Given the description of an element on the screen output the (x, y) to click on. 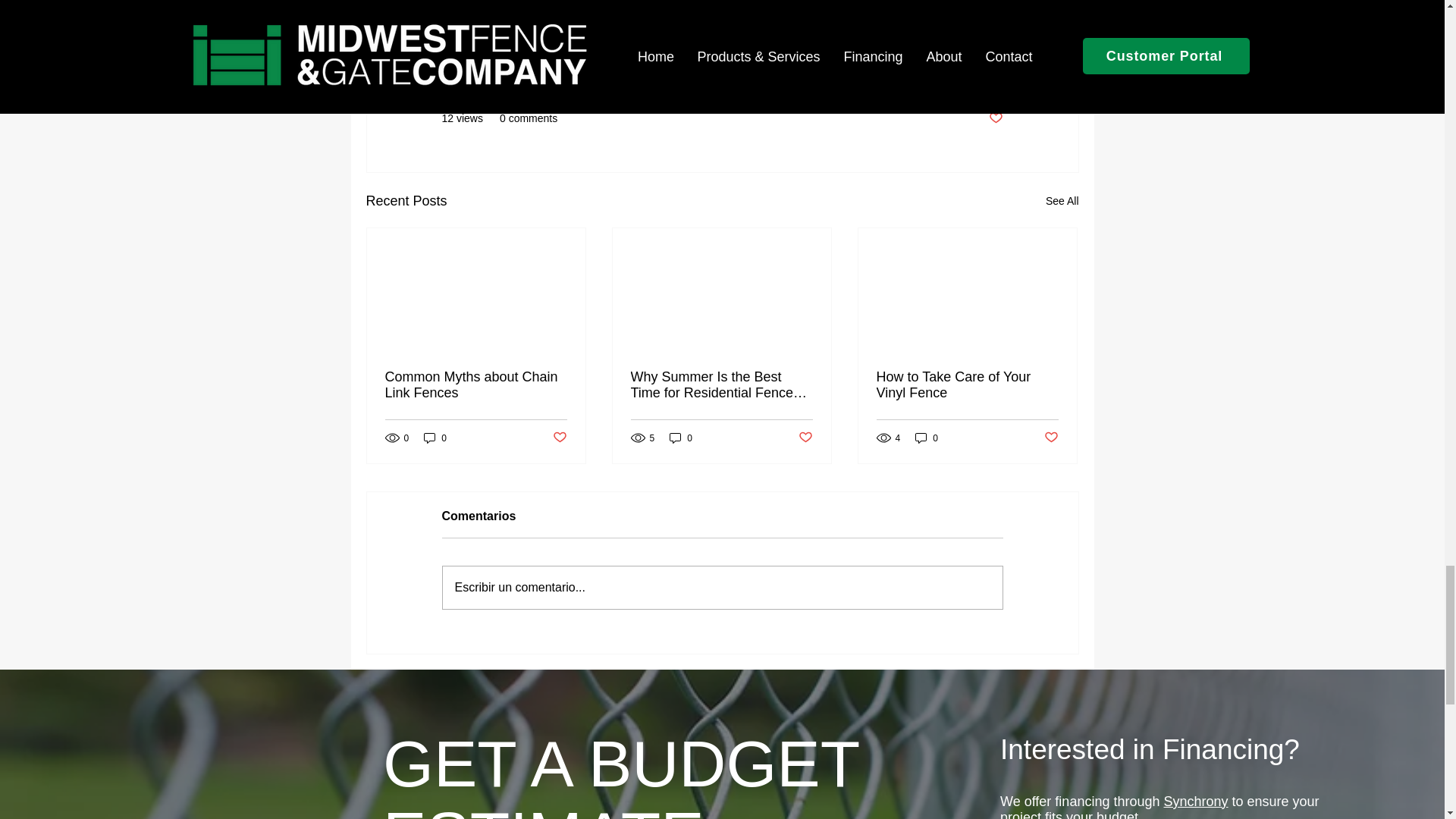
Post not marked as liked (995, 118)
Common Myths about Chain Link Fences (476, 385)
See All (1061, 201)
Post not marked as liked (558, 437)
0 (435, 437)
0 (681, 437)
Post not marked as liked (804, 437)
